Given the description of an element on the screen output the (x, y) to click on. 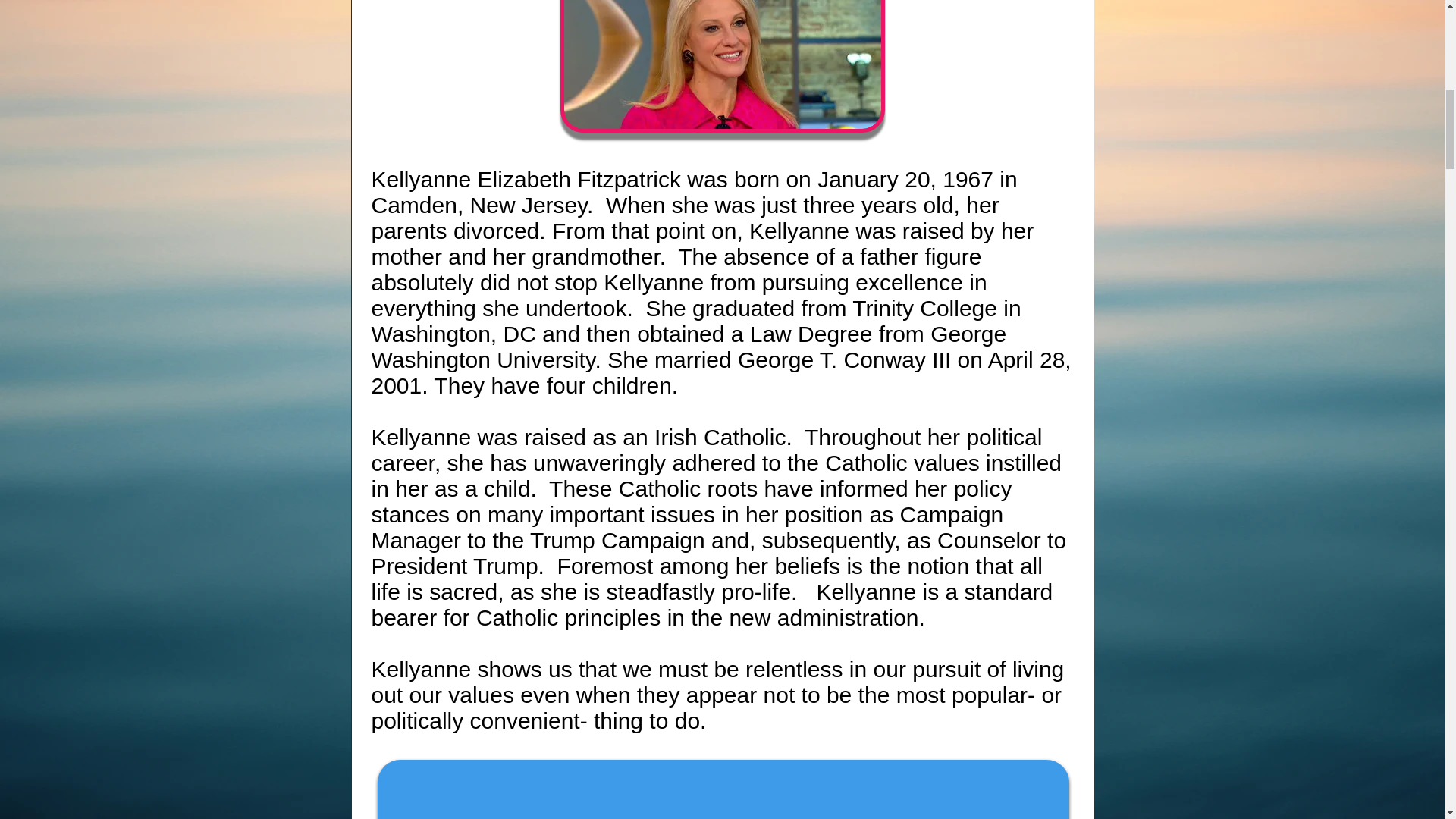
External YouTube (722, 791)
